Given the description of an element on the screen output the (x, y) to click on. 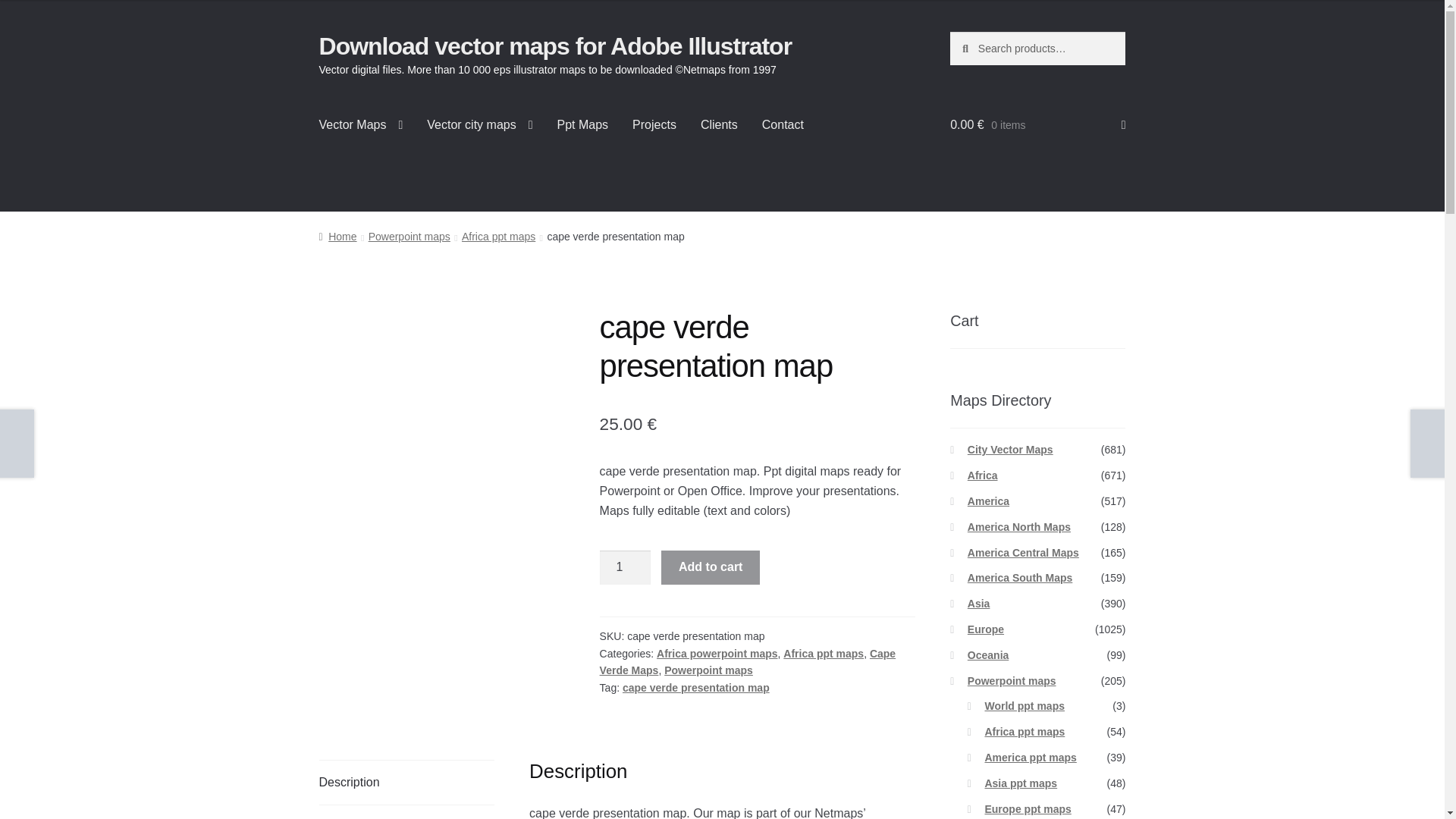
1 (624, 567)
Vector Maps (360, 124)
Download vector maps for Adobe Illustrator (555, 45)
